Given the description of an element on the screen output the (x, y) to click on. 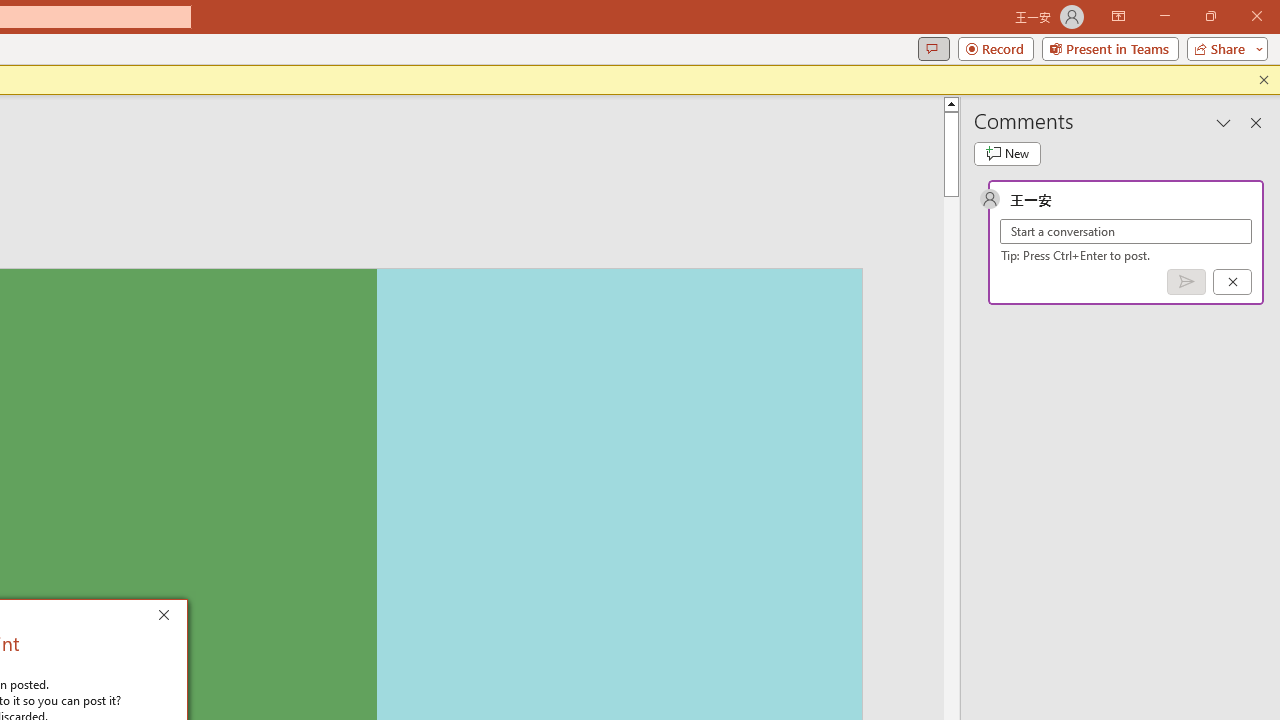
Start a conversation (1126, 231)
Close this message (1263, 80)
New comment (1007, 153)
